Given the description of an element on the screen output the (x, y) to click on. 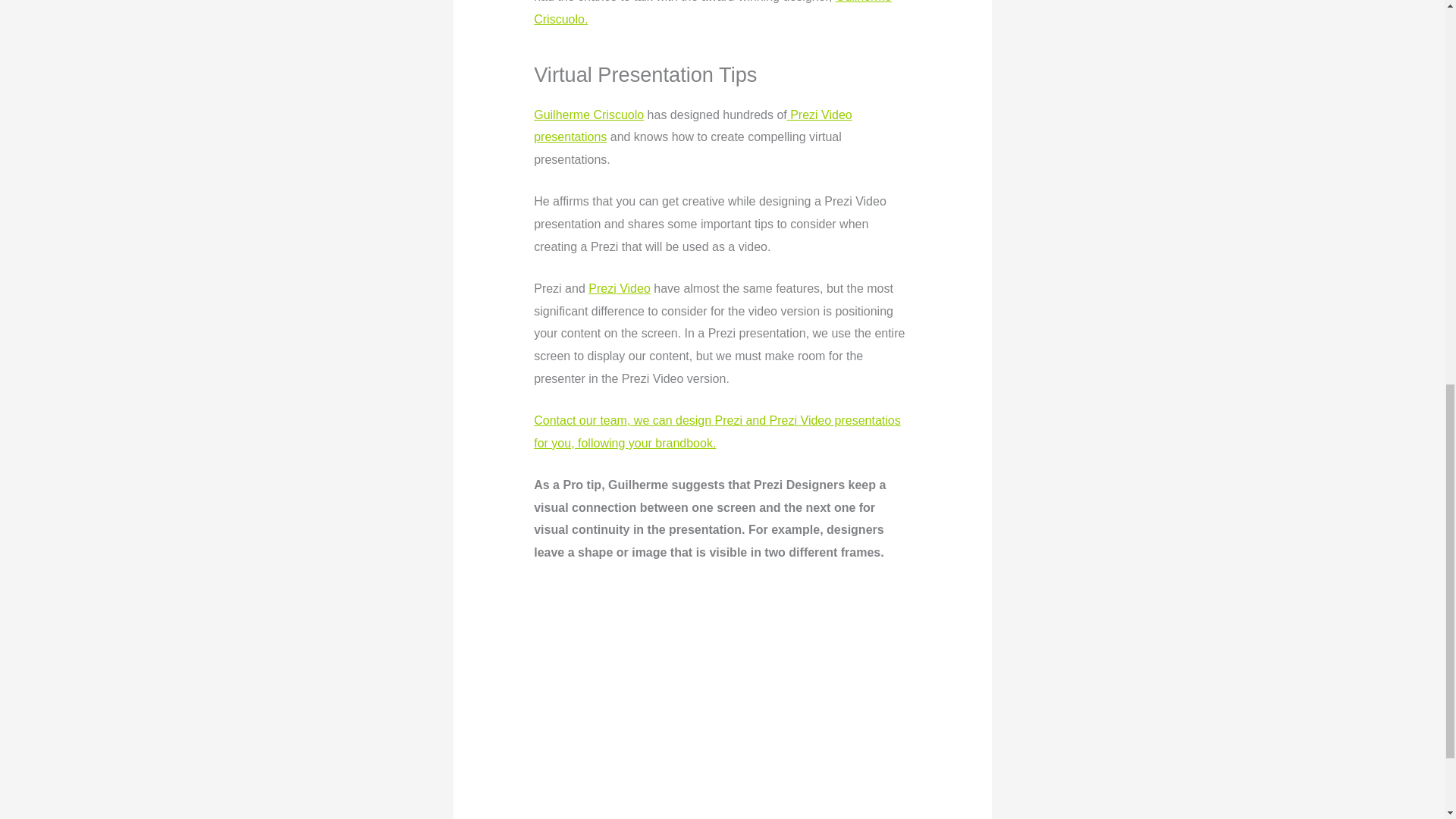
visual-continuity-in-presentations.mp4 (722, 688)
Guilherme Criscuolo (588, 113)
Guilherme Criscuolo. (712, 12)
Prezi Video (619, 287)
Prezi Video presentations (692, 125)
